Given the description of an element on the screen output the (x, y) to click on. 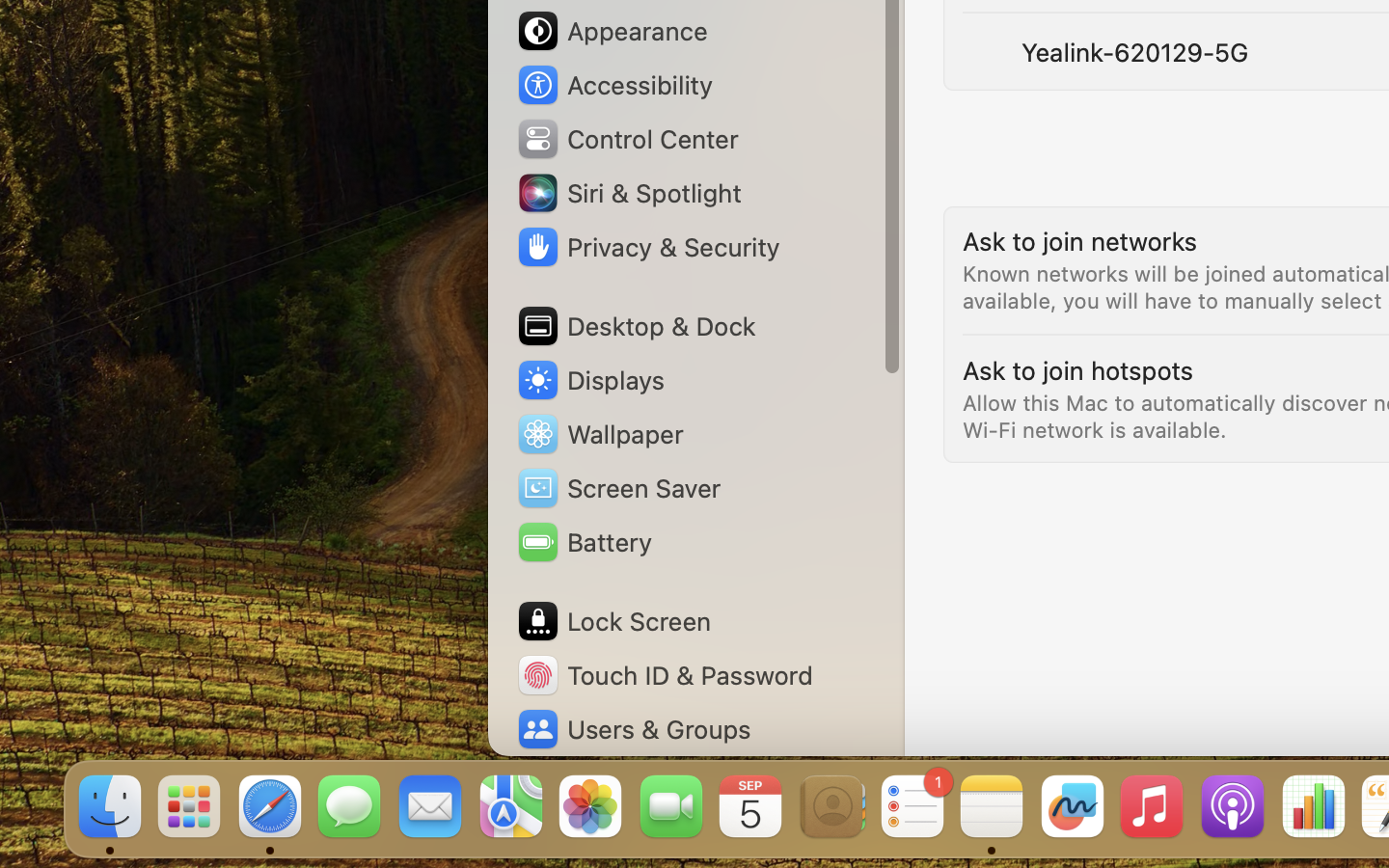
Desktop & Dock Element type: AXStaticText (635, 325)
Screen Saver Element type: AXStaticText (618, 487)
Users & Groups Element type: AXStaticText (632, 728)
Siri & Spotlight Element type: AXStaticText (627, 192)
Appearance Element type: AXStaticText (611, 30)
